Given the description of an element on the screen output the (x, y) to click on. 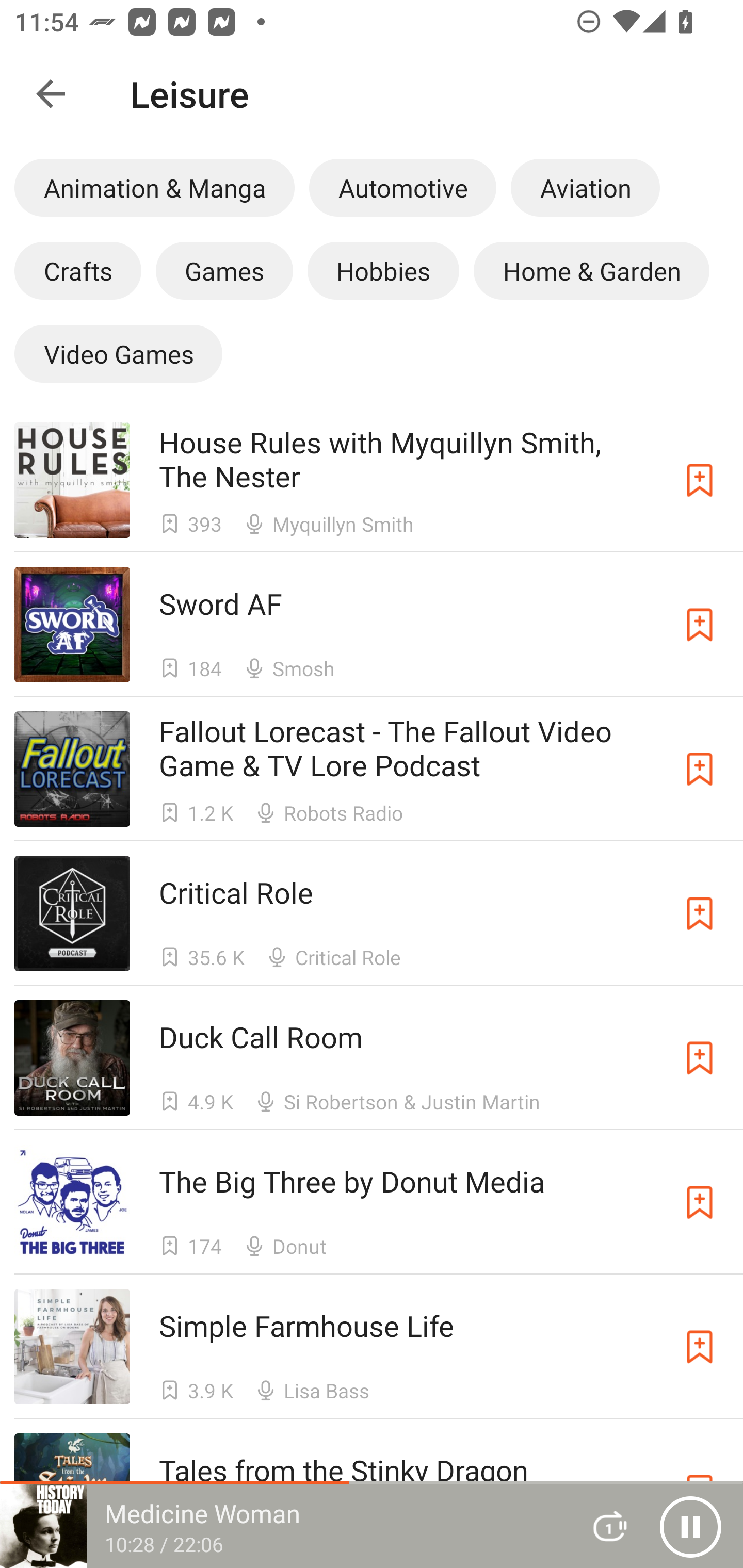
Navigate up (50, 93)
Animation & Manga (154, 187)
Automotive (402, 187)
Aviation (585, 187)
Crafts (77, 270)
Games (224, 270)
Hobbies (383, 270)
Home & Garden (591, 270)
Video Games (118, 353)
Subscribe (699, 479)
Sword AF Sword AF  184  Smosh Subscribe (371, 623)
Subscribe (699, 624)
Subscribe (699, 768)
Subscribe (699, 913)
Subscribe (699, 1058)
Subscribe (699, 1202)
Subscribe (699, 1346)
Medicine Woman 10:26 / 22:06 (283, 1525)
Pause (690, 1526)
